Given the description of an element on the screen output the (x, y) to click on. 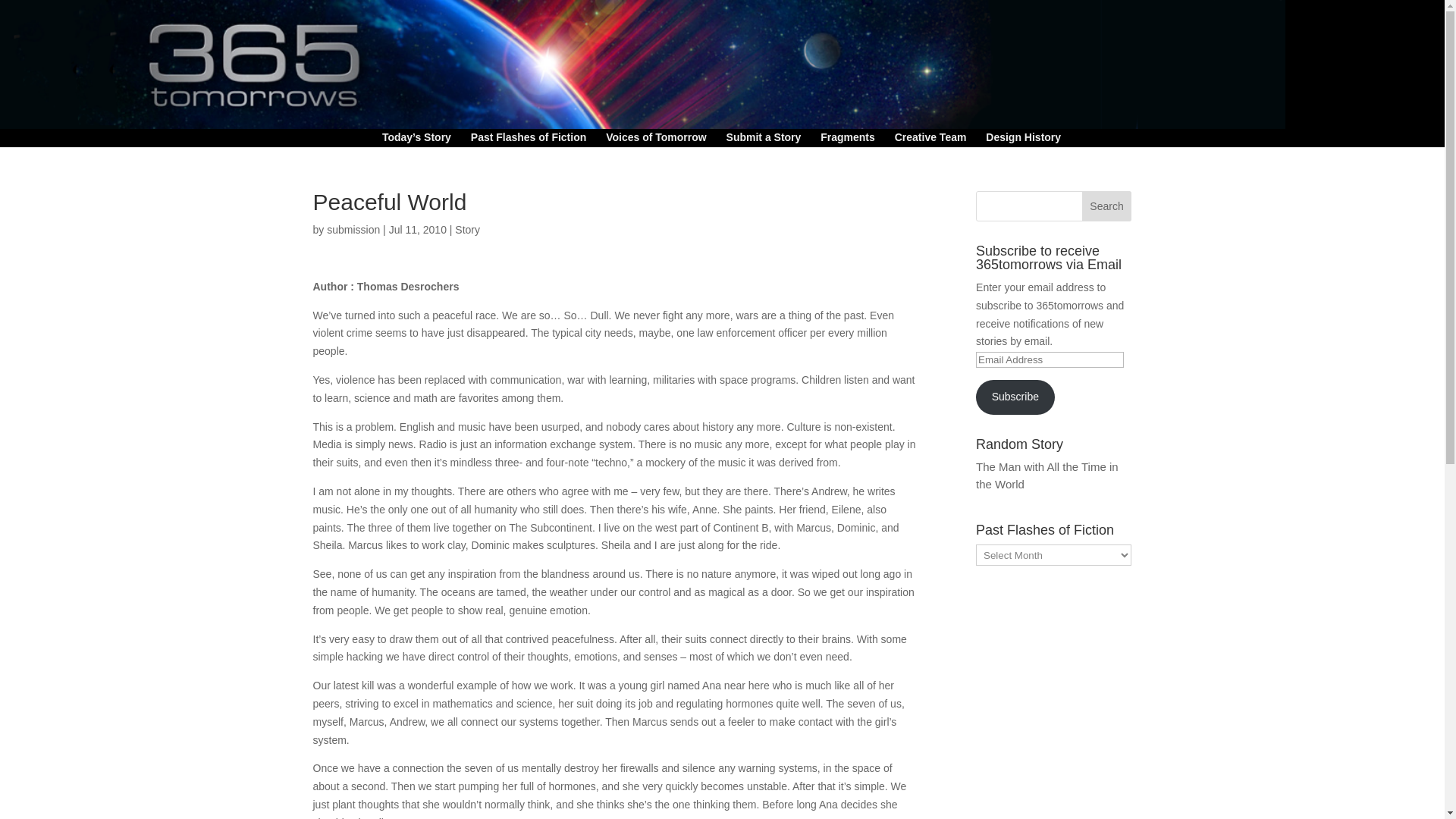
Posts by submission (353, 229)
submission (353, 229)
Subscribe (1014, 397)
The Man with All the Time in the World (1046, 475)
Story (467, 229)
Fragments (848, 139)
Past Flashes of Fiction (528, 139)
Voices of Tomorrow (655, 139)
Submit a Story (764, 139)
Search (1106, 205)
Creative Team (930, 139)
Design History (1023, 139)
Search (1106, 205)
